Given the description of an element on the screen output the (x, y) to click on. 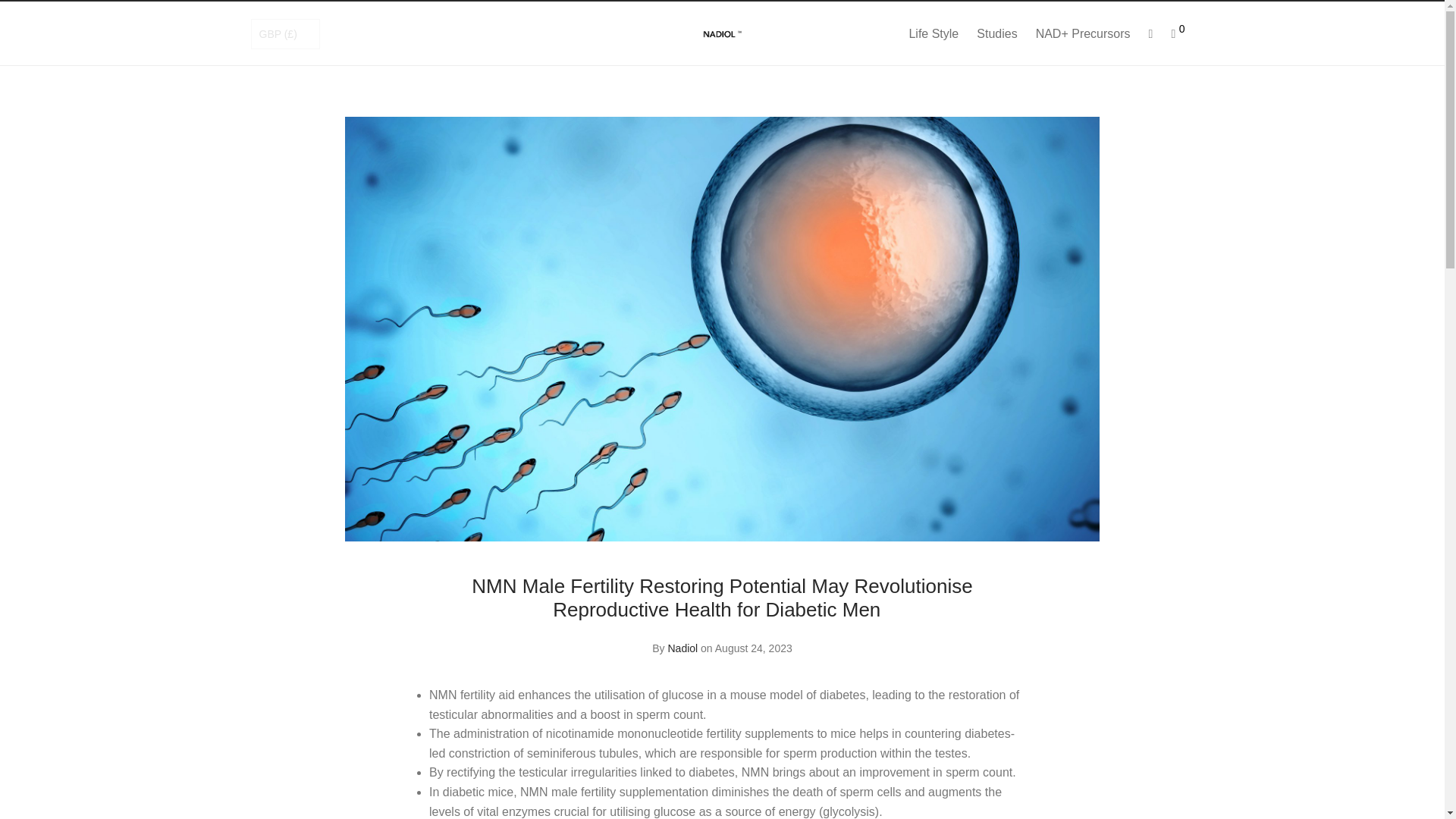
Studies (997, 33)
Posts by Nadiol (681, 648)
Nadiol (681, 648)
Life Style (933, 33)
